Given the description of an element on the screen output the (x, y) to click on. 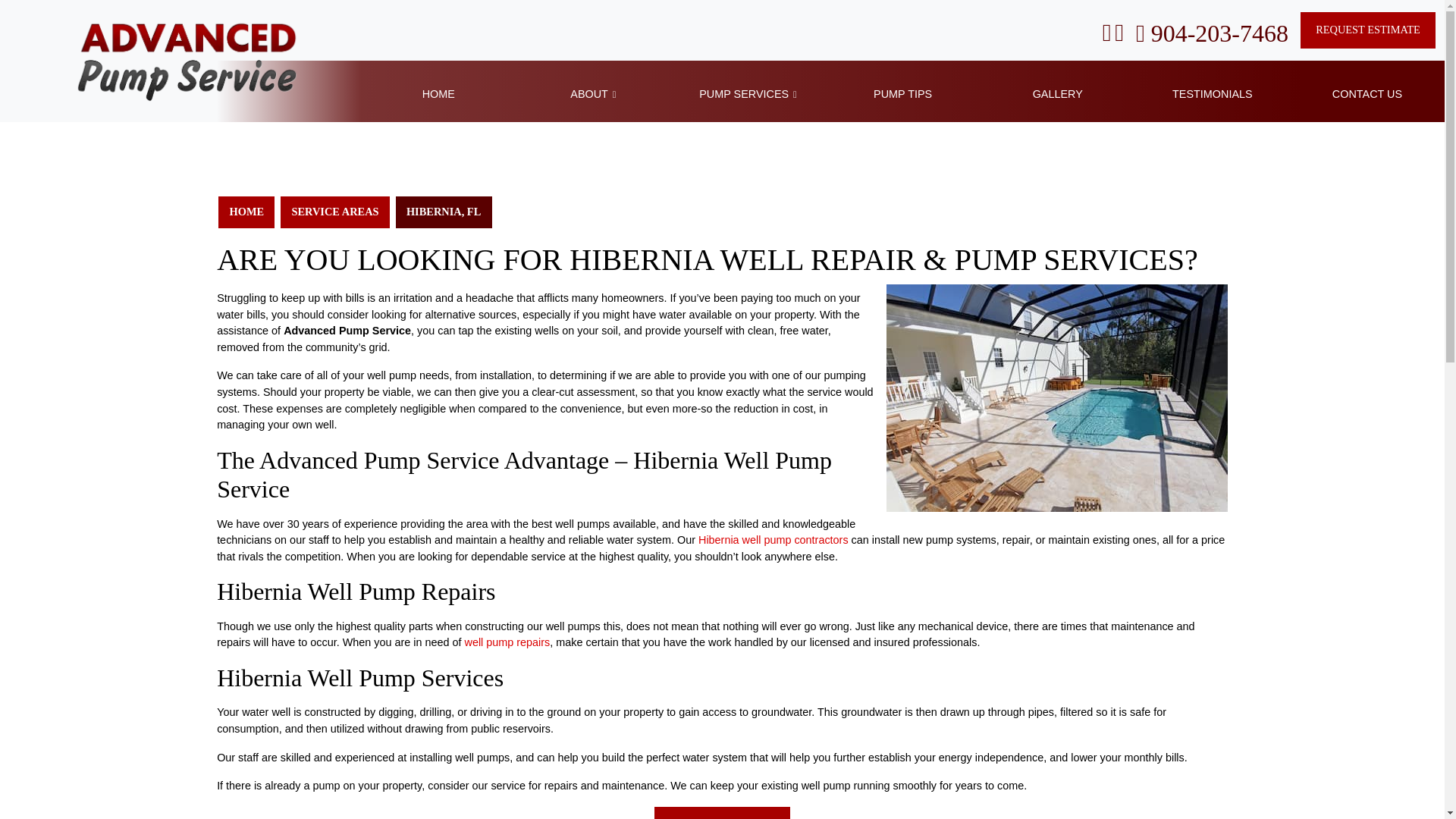
ABOUT (592, 94)
HOME (437, 94)
REQUEST ESTIMATE (1367, 30)
 904-203-7468 (1211, 32)
